Given the description of an element on the screen output the (x, y) to click on. 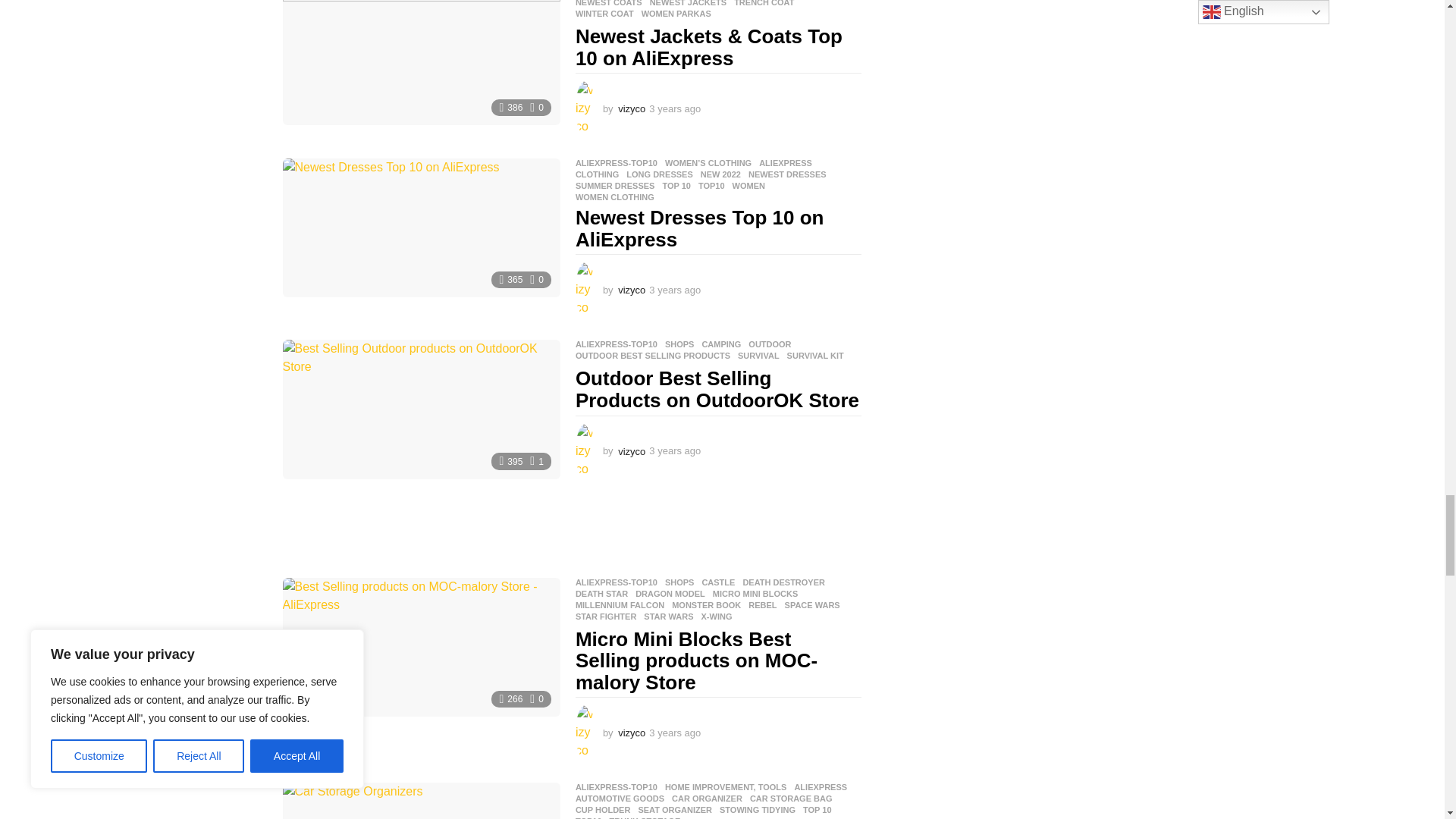
Stowing Tidying Top 10 on AliExpress (420, 800)
Outdoor Best Selling Products on OutdoorOK Store (420, 408)
Newest Dresses Top 10 on AliExpress (420, 227)
Micro Mini Blocks Best Selling products on MOC-malory Store (420, 647)
